Given the description of an element on the screen output the (x, y) to click on. 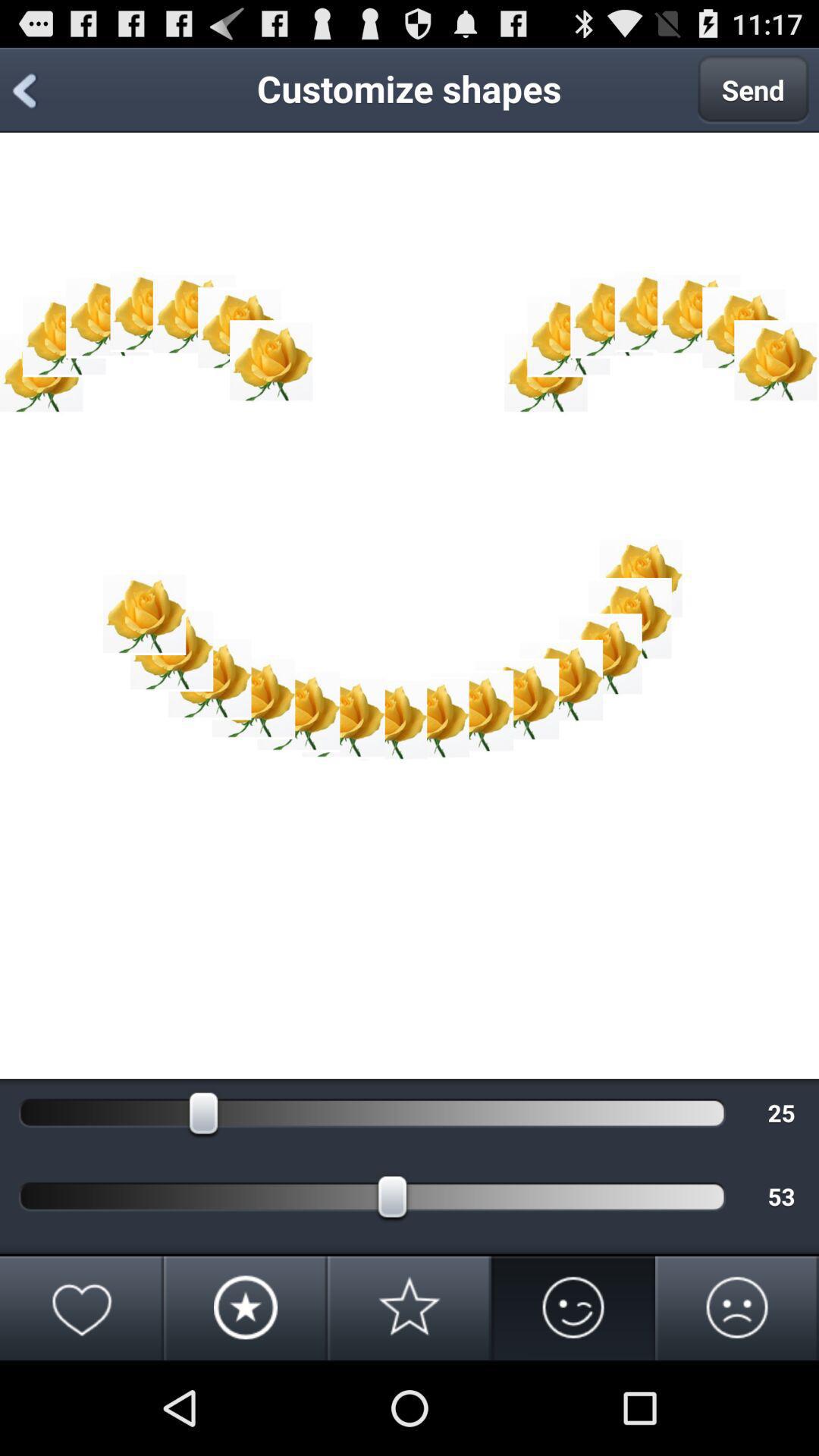
jump to the send (752, 90)
